Given the description of an element on the screen output the (x, y) to click on. 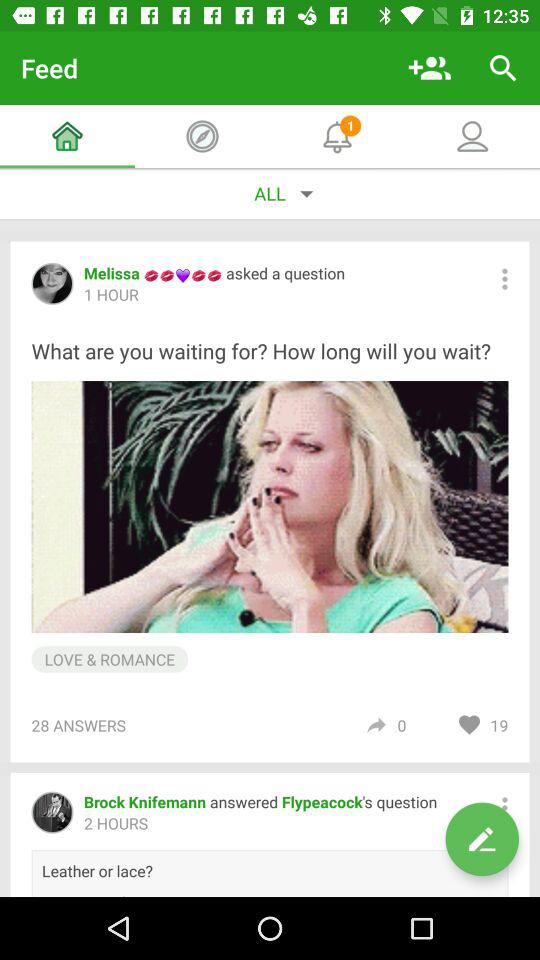
see more options by clicking here (504, 278)
